Given the description of an element on the screen output the (x, y) to click on. 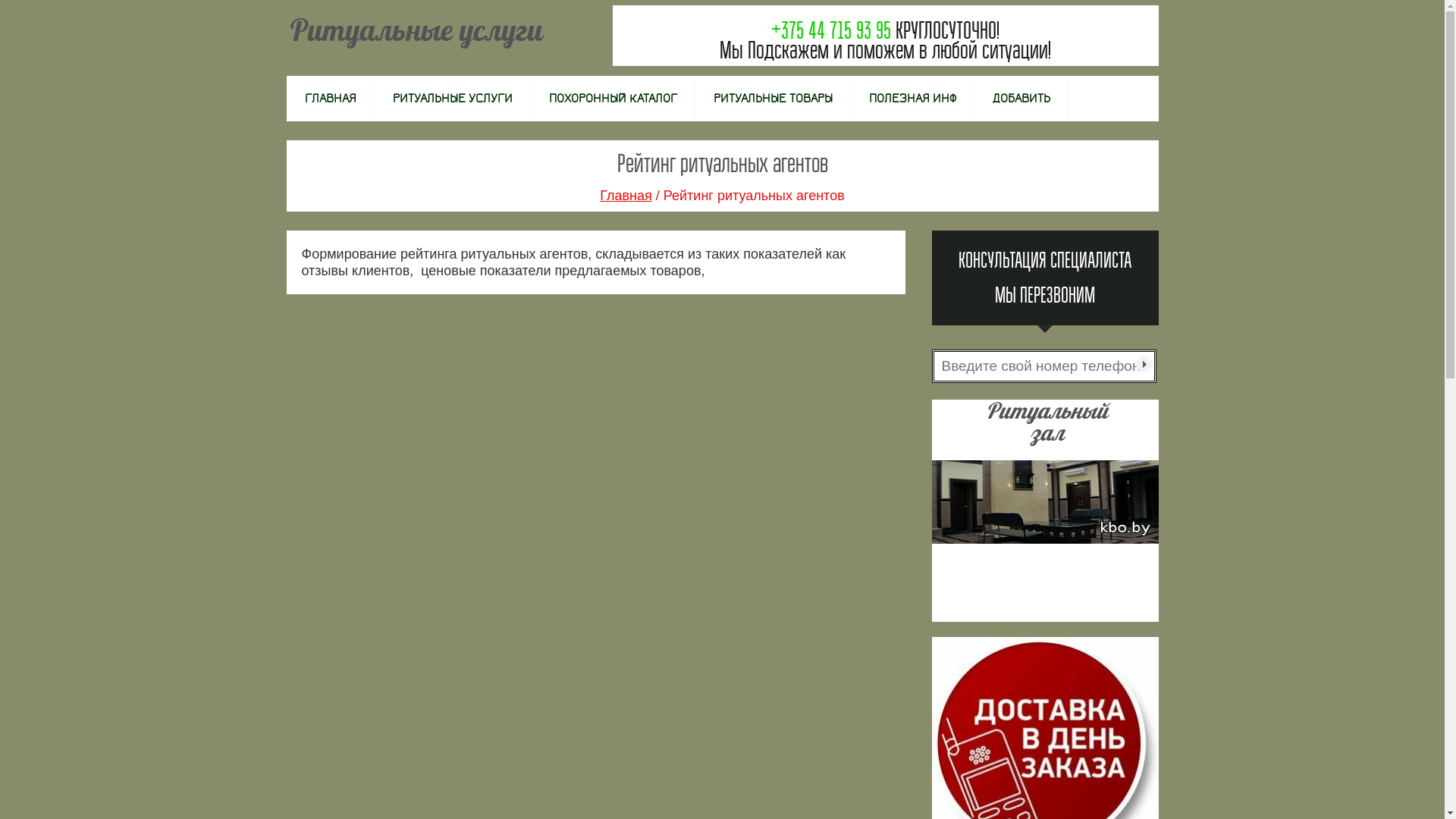
  Element type: text (1143, 363)
